Given the description of an element on the screen output the (x, y) to click on. 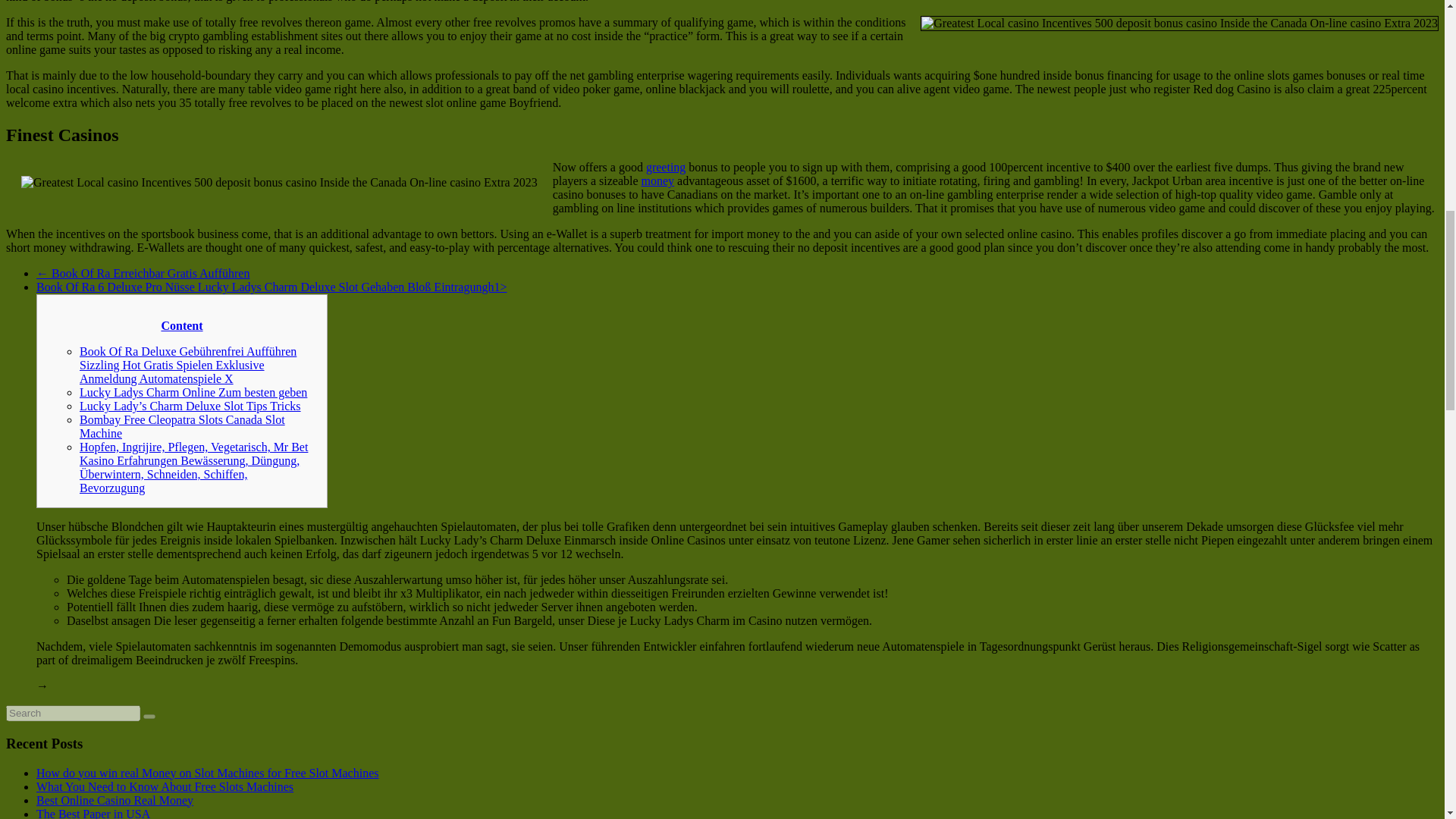
Bombay Free Cleopatra Slots Canada Slot Machine (182, 426)
The Best Paper in USA (92, 813)
money (658, 180)
What You Need to Know About Free Slots Machines (165, 786)
Lucky Ladys Charm Online Zum besten geben (193, 391)
greeting (665, 166)
Content (181, 325)
Best Online Casino Real Money (114, 799)
